Given the description of an element on the screen output the (x, y) to click on. 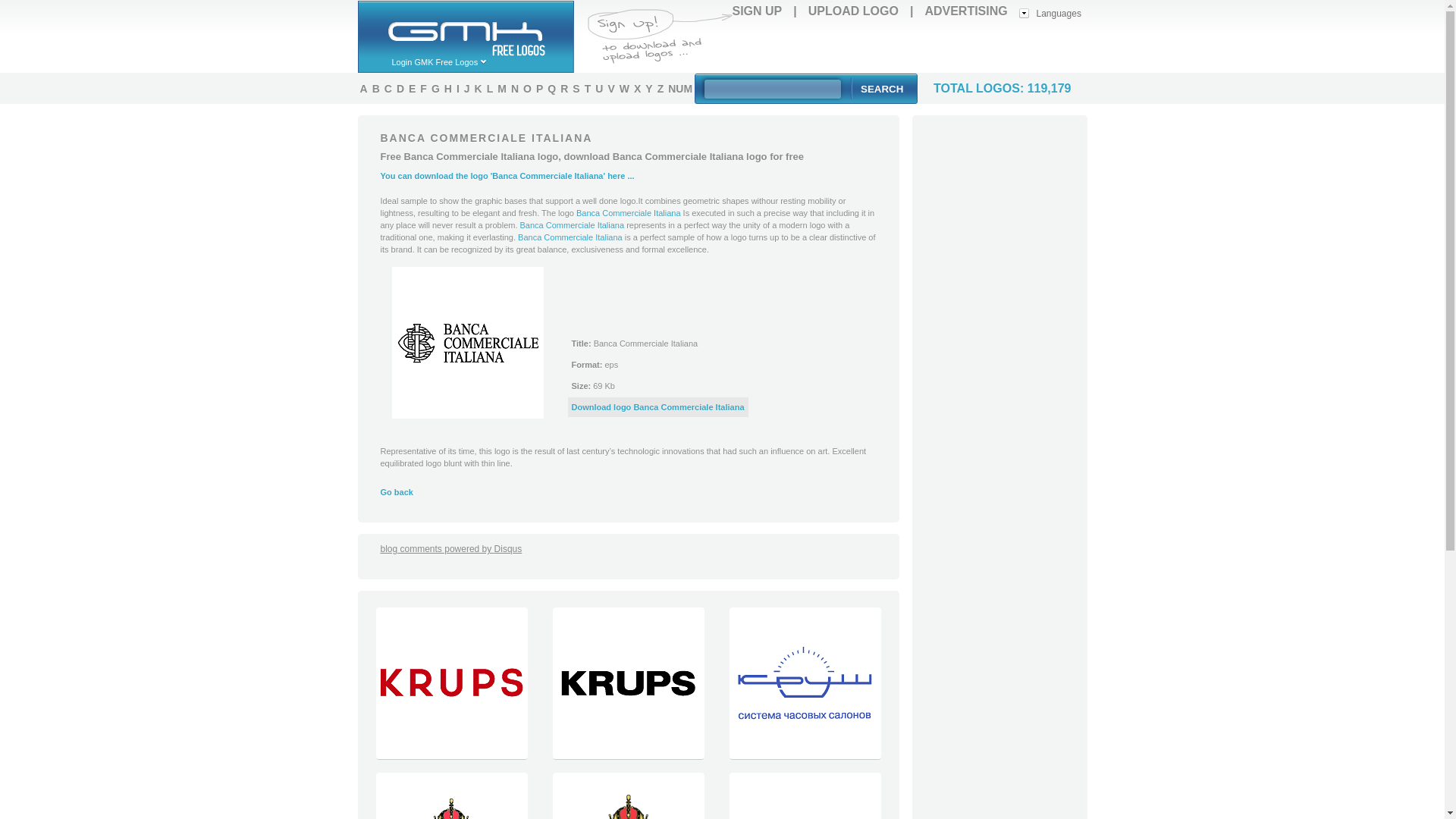
Search (881, 88)
Login GMK Free Logos (446, 61)
Home (471, 28)
Download Banca Commerciale Italiana (658, 406)
Banca Commerciale Italiana (570, 236)
Search (881, 88)
Languages (1050, 12)
Advertisement (909, 46)
SIGN UP (757, 10)
Banca Commerciale Italiana (571, 225)
ADVERTISING (965, 10)
Banca Commerciale Italiana (628, 212)
Go back (396, 491)
Download Banca Commerciale Italiana (467, 342)
